Given the description of an element on the screen output the (x, y) to click on. 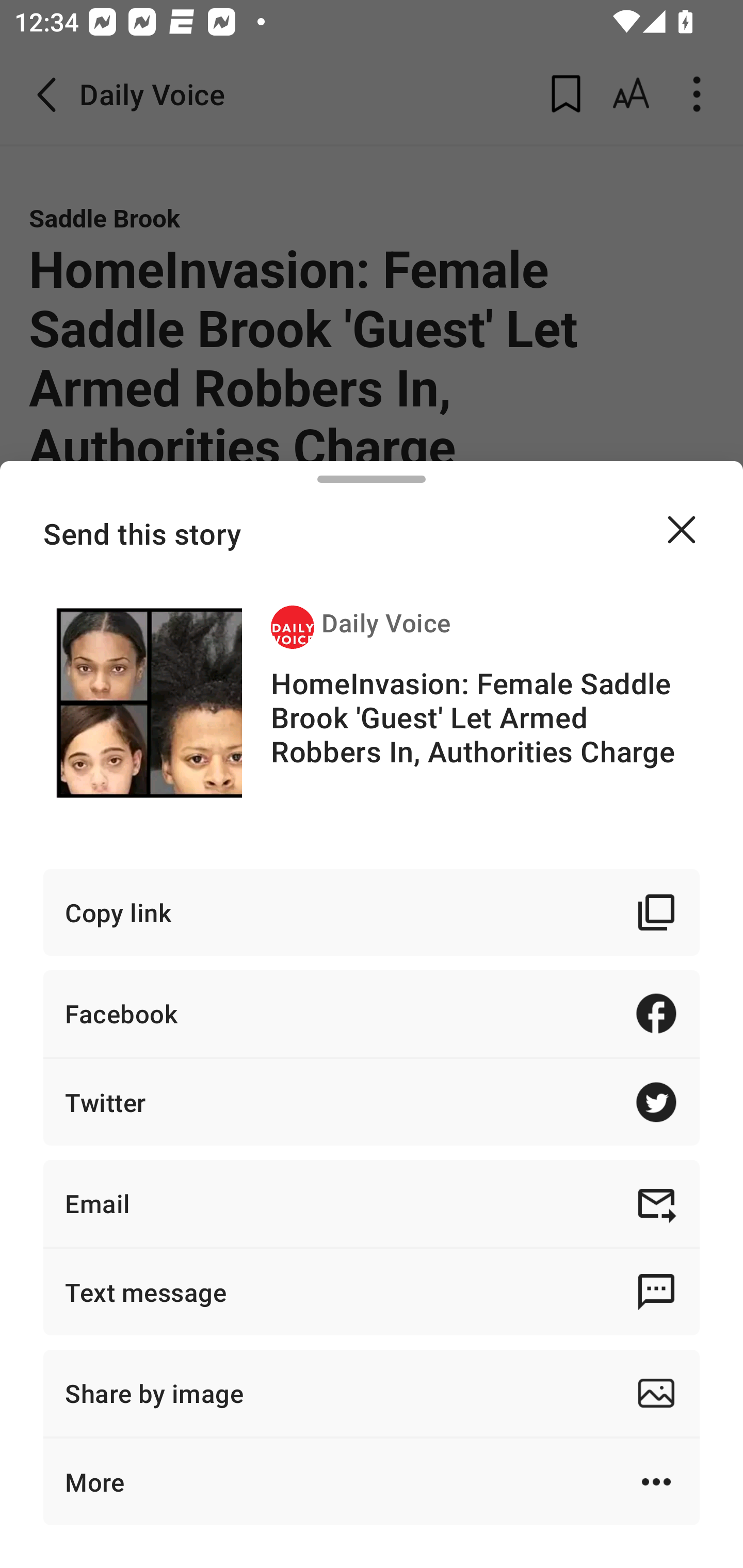
Copy link (371, 912)
Facebook (371, 1013)
Twitter (371, 1102)
Email (371, 1203)
Text message (371, 1291)
Share by image (371, 1393)
More (371, 1481)
